Given the description of an element on the screen output the (x, y) to click on. 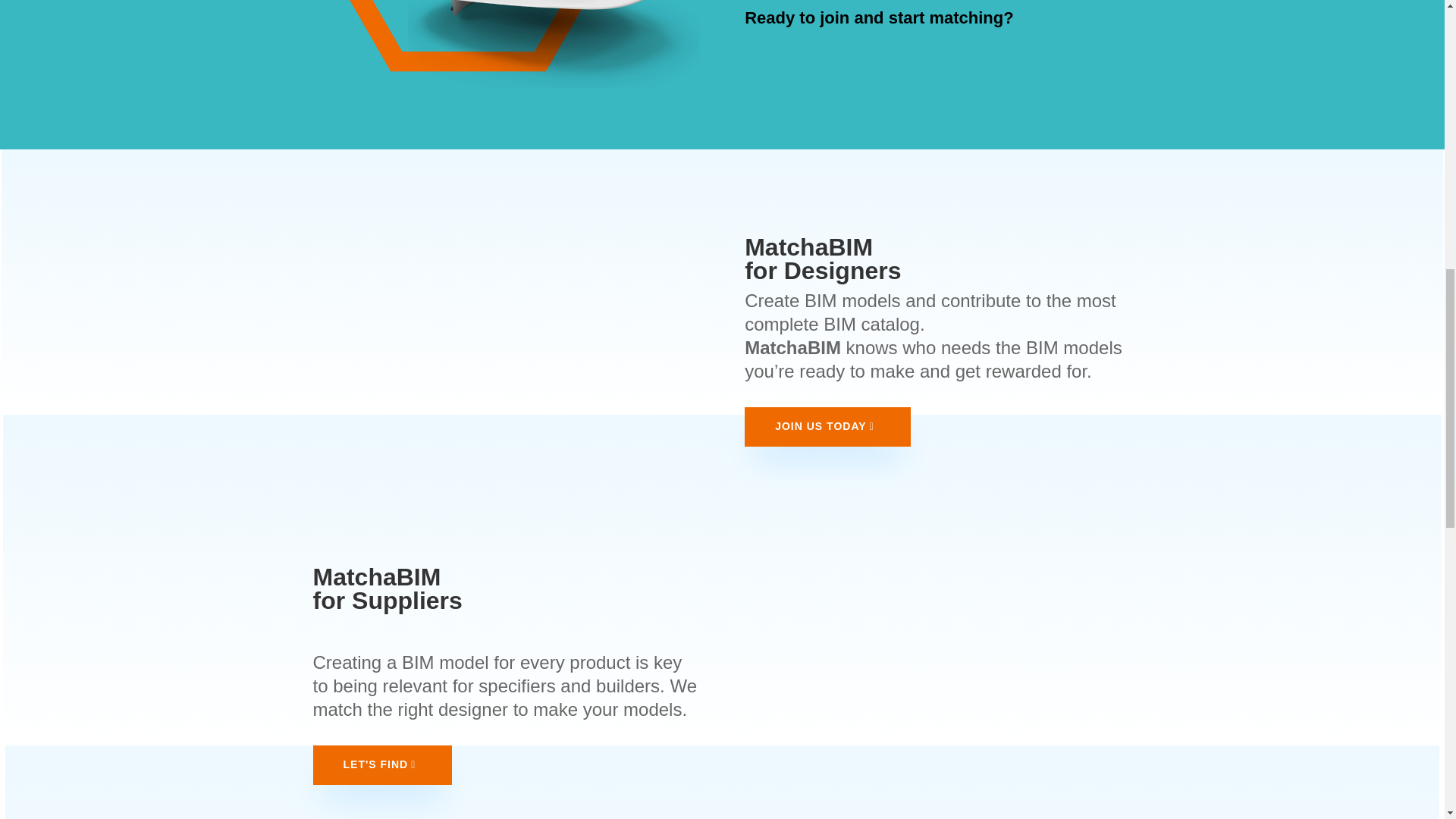
JOIN US TODAY (827, 426)
Hex-Helmet (505, 43)
LET'S FIND (382, 764)
